Given the description of an element on the screen output the (x, y) to click on. 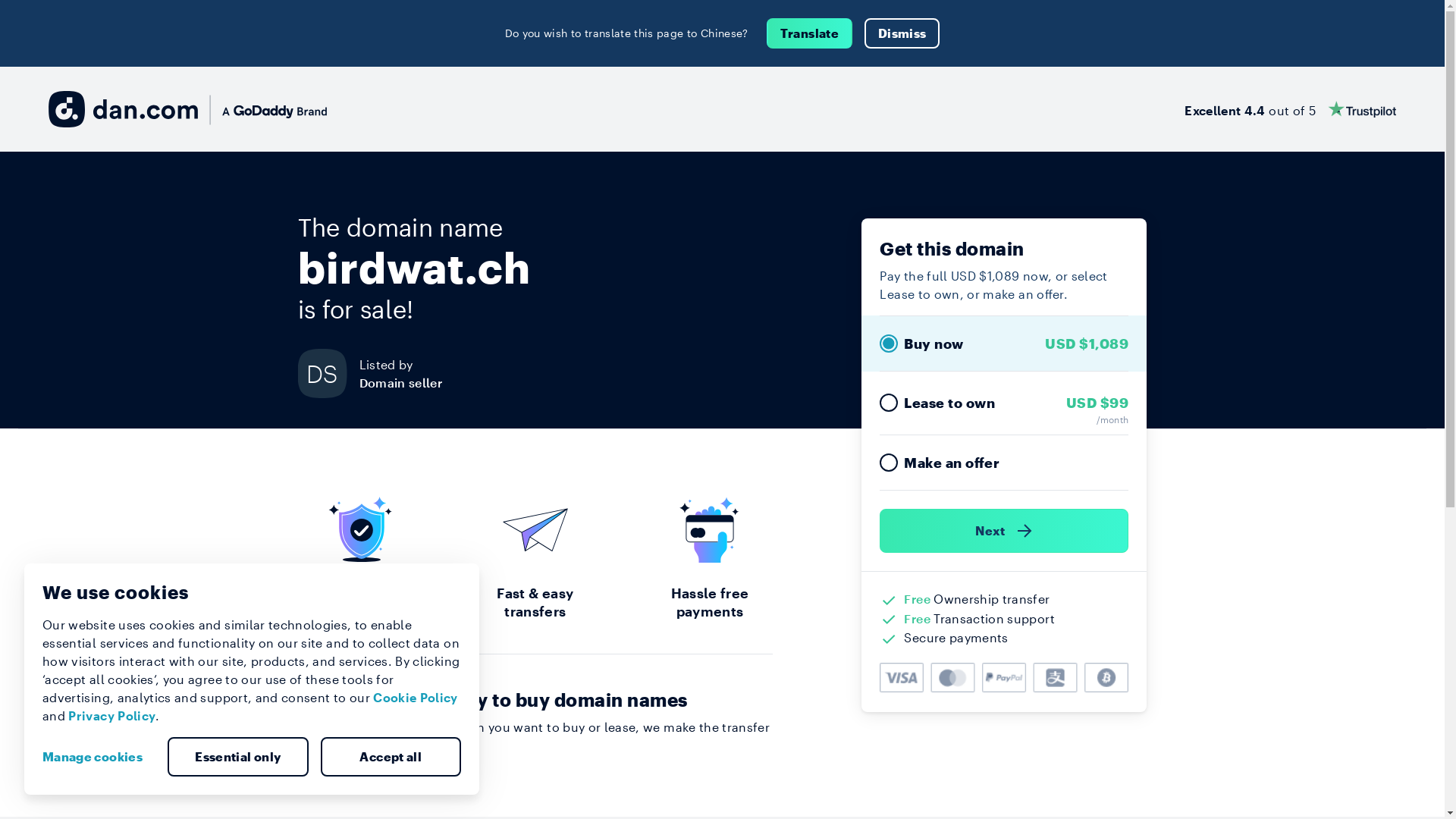
DS Element type: text (327, 373)
Privacy Policy Element type: text (111, 715)
Next
) Element type: text (1003, 530)
Accept all Element type: text (390, 756)
Dismiss Element type: text (901, 33)
Cookie Policy Element type: text (415, 697)
Translate Element type: text (809, 33)
Excellent 4.4 out of 5 Element type: text (1290, 109)
Essential only Element type: text (237, 756)
Manage cookies Element type: text (98, 756)
